Given the description of an element on the screen output the (x, y) to click on. 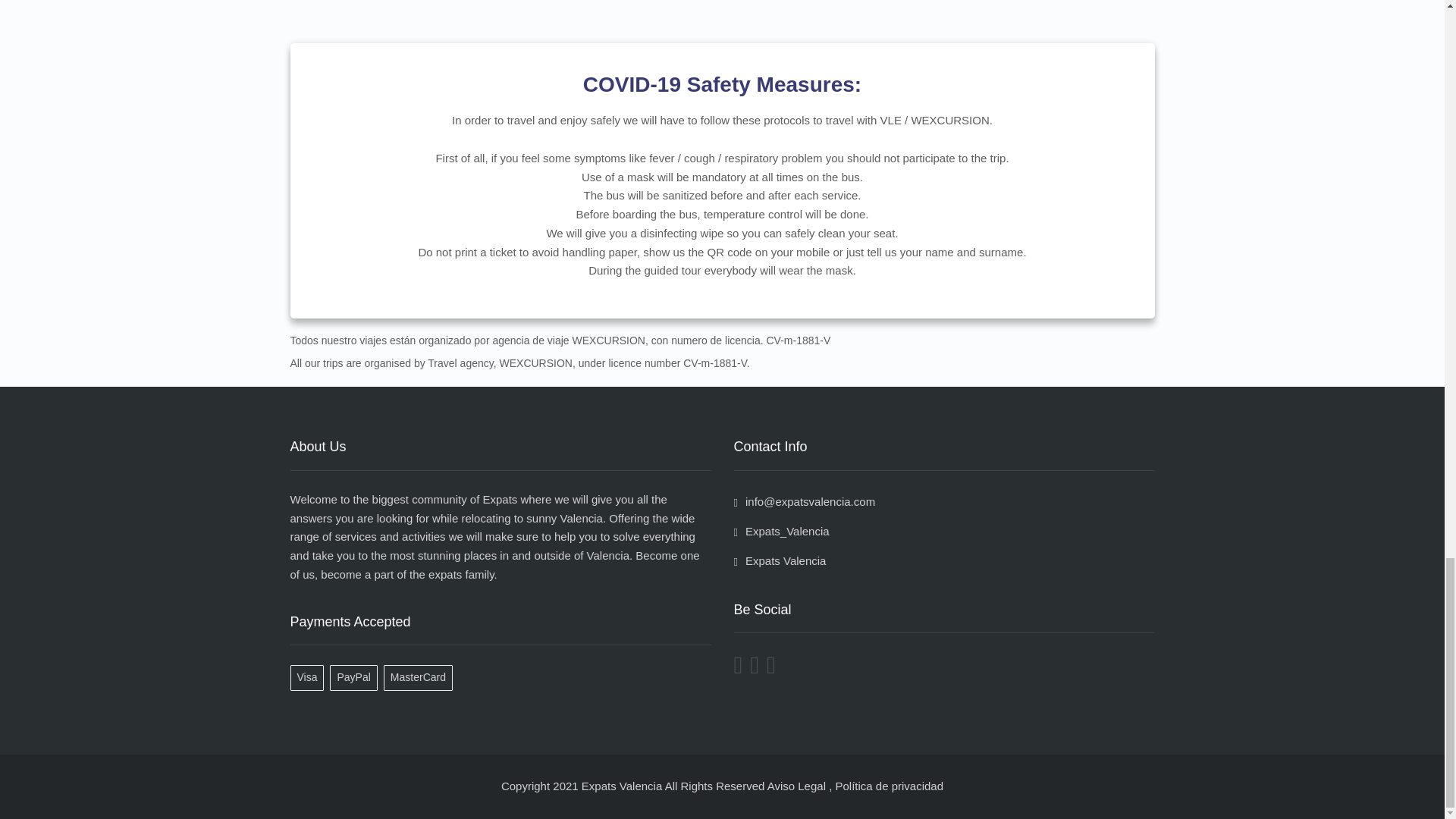
Visa (309, 676)
MasterCard (421, 676)
Expats Valencia (780, 560)
PayPal (356, 676)
